Given the description of an element on the screen output the (x, y) to click on. 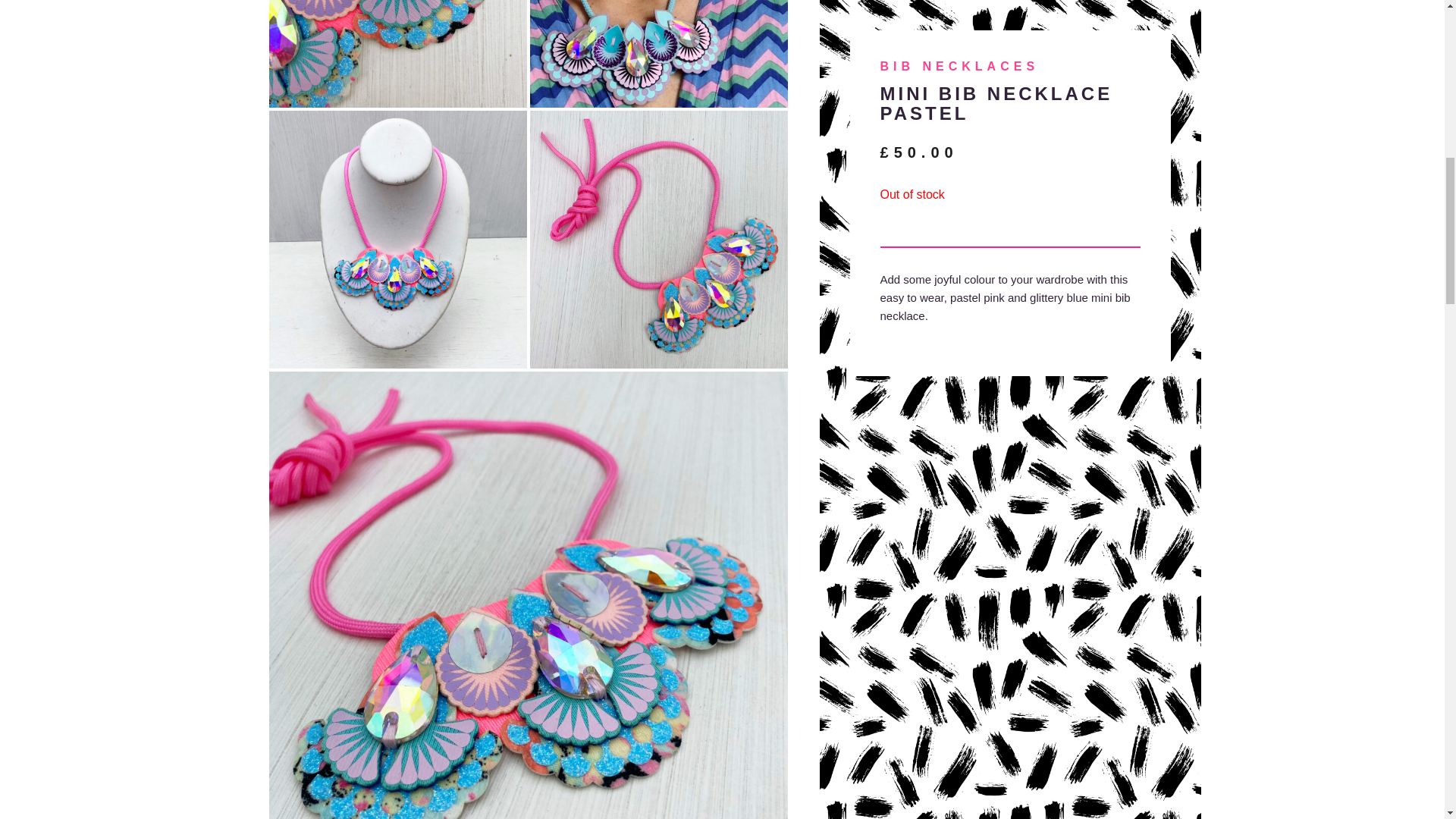
bib-necklace-sept23-031 (396, 53)
bib-necklace-sept23-051 (396, 239)
dakota-rae-dust-mini-bib-necklace-blue-lilac-07 (658, 53)
bib-necklace-sept23-030 (658, 239)
